Given the description of an element on the screen output the (x, y) to click on. 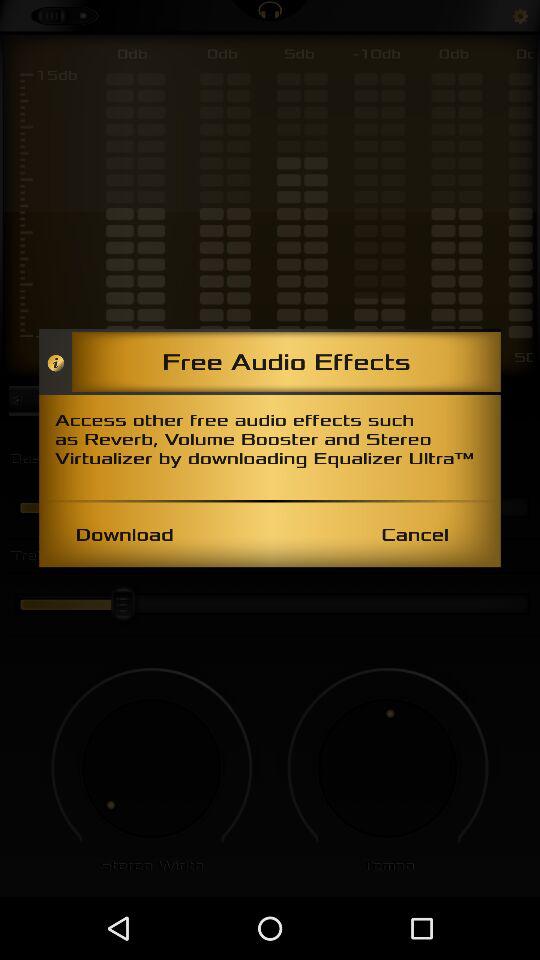
flip until cancel item (414, 534)
